Given the description of an element on the screen output the (x, y) to click on. 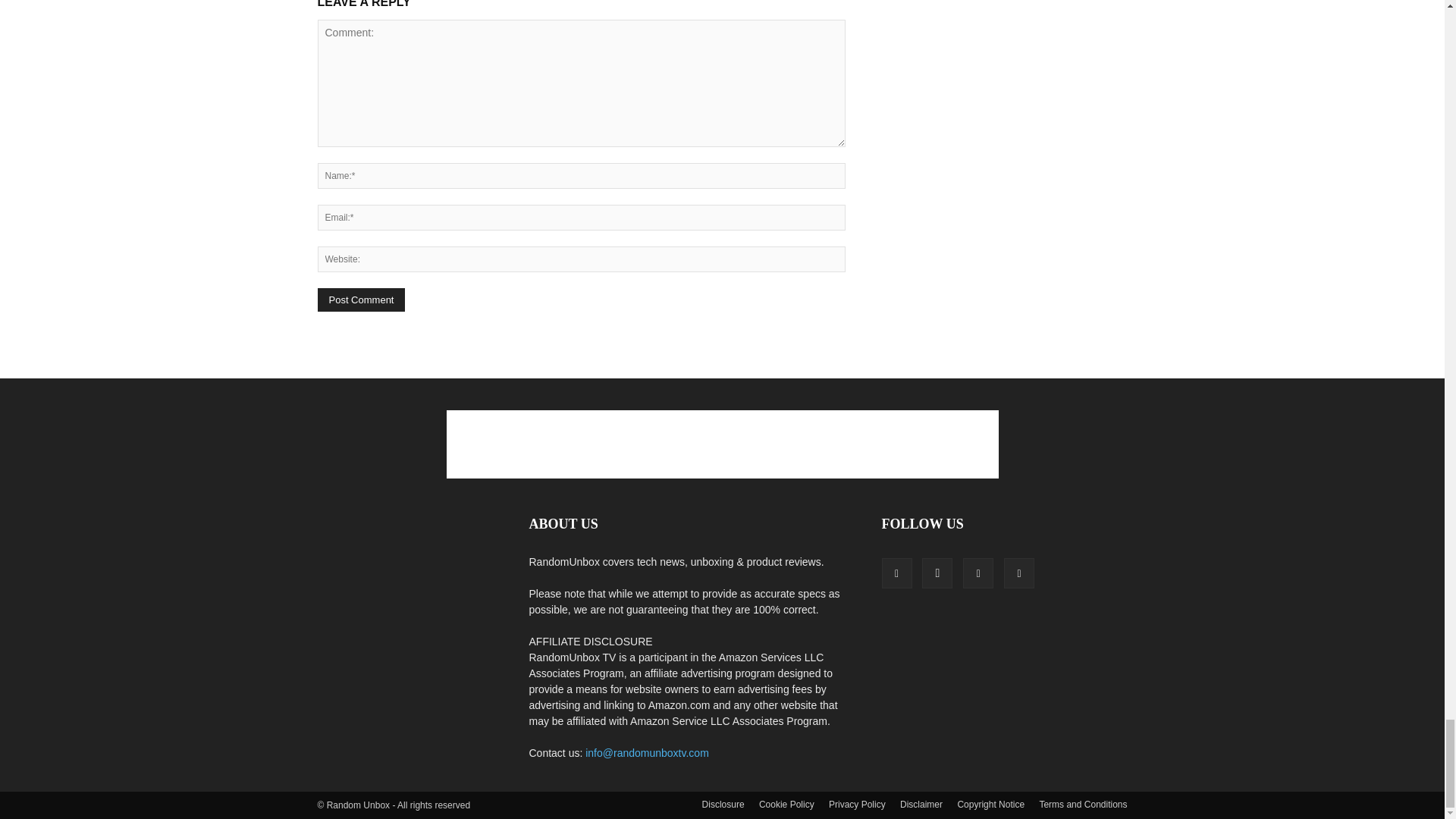
Post Comment (360, 300)
